Given the description of an element on the screen output the (x, y) to click on. 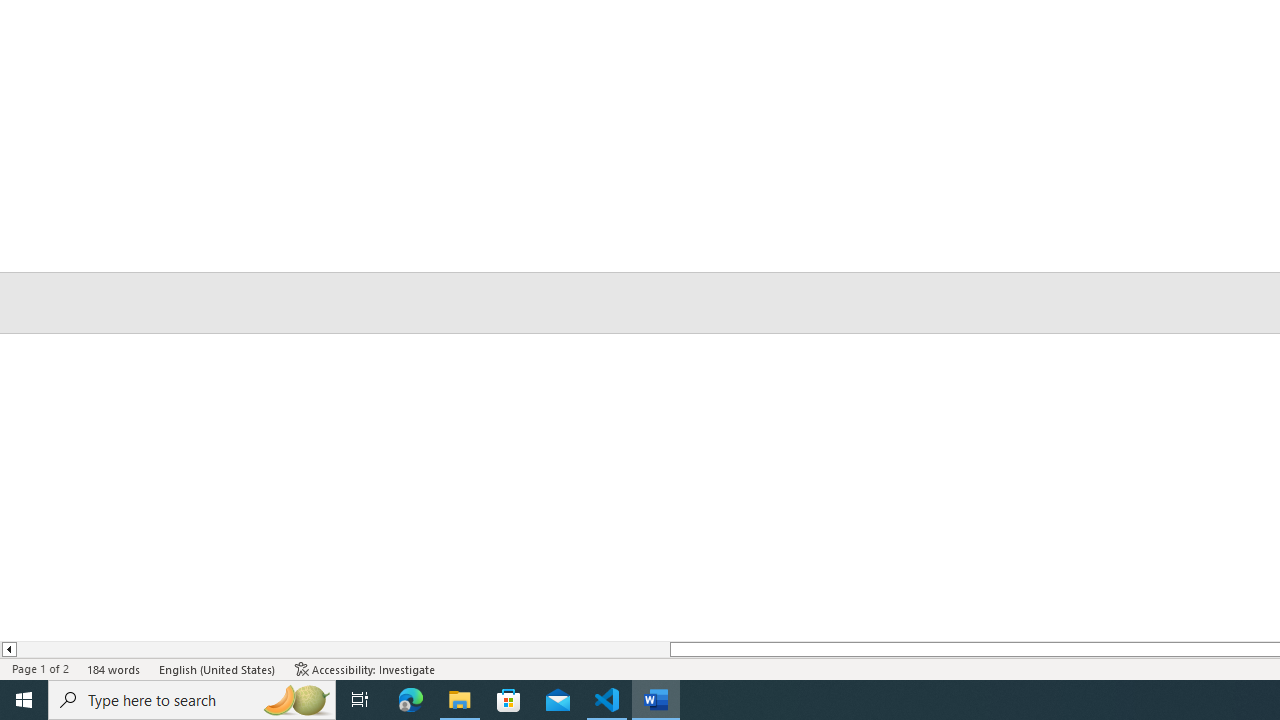
Column left (8, 649)
Page left (342, 649)
Page Number Page 1 of 2 (39, 668)
